Given the description of an element on the screen output the (x, y) to click on. 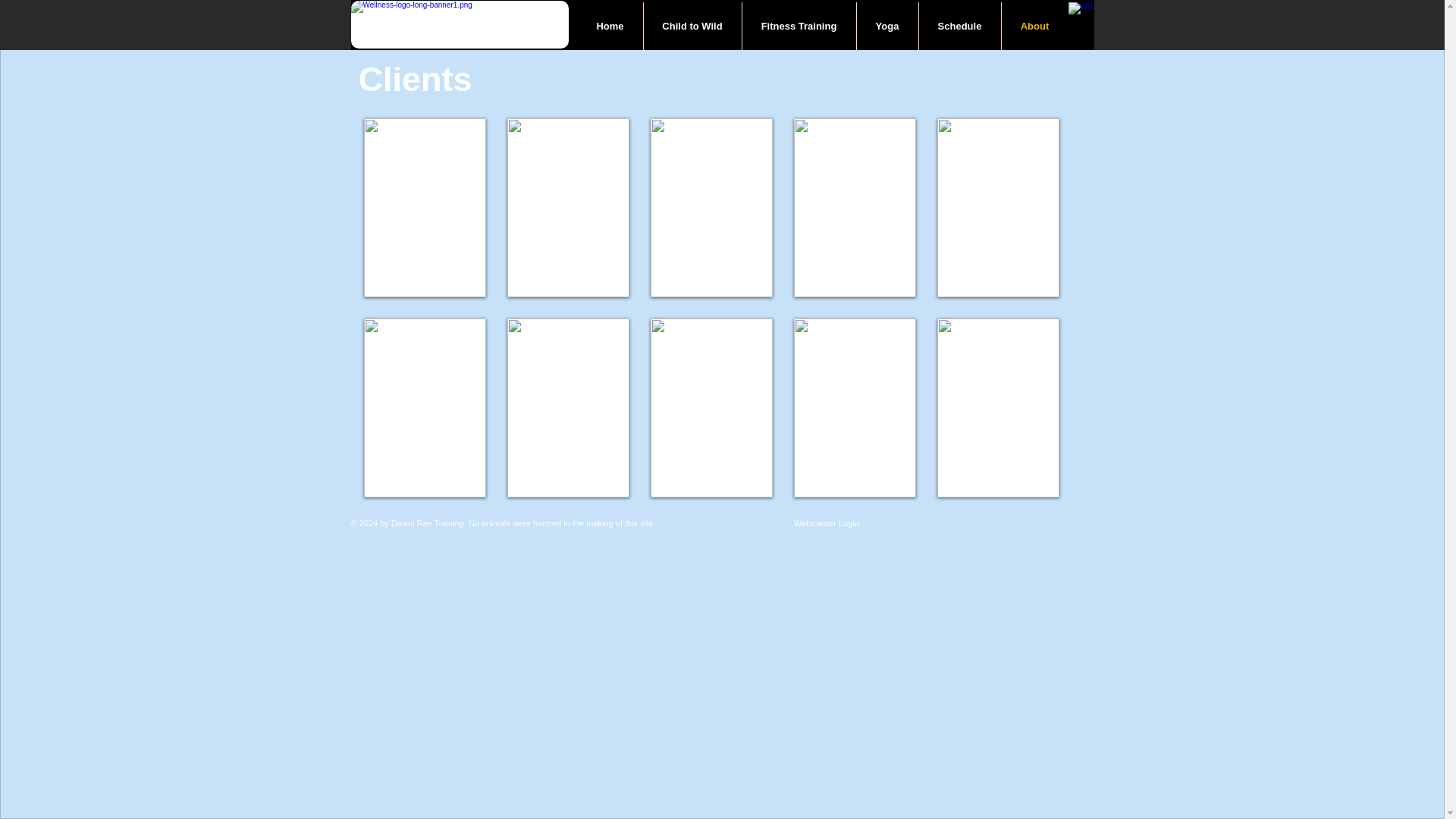
Facebook Like (1002, 531)
Fitness Training (798, 25)
Home (610, 25)
Child to Wild (692, 25)
About (1034, 25)
Webmaster Login (826, 523)
Yoga (887, 25)
Schedule (959, 25)
